Given the description of an element on the screen output the (x, y) to click on. 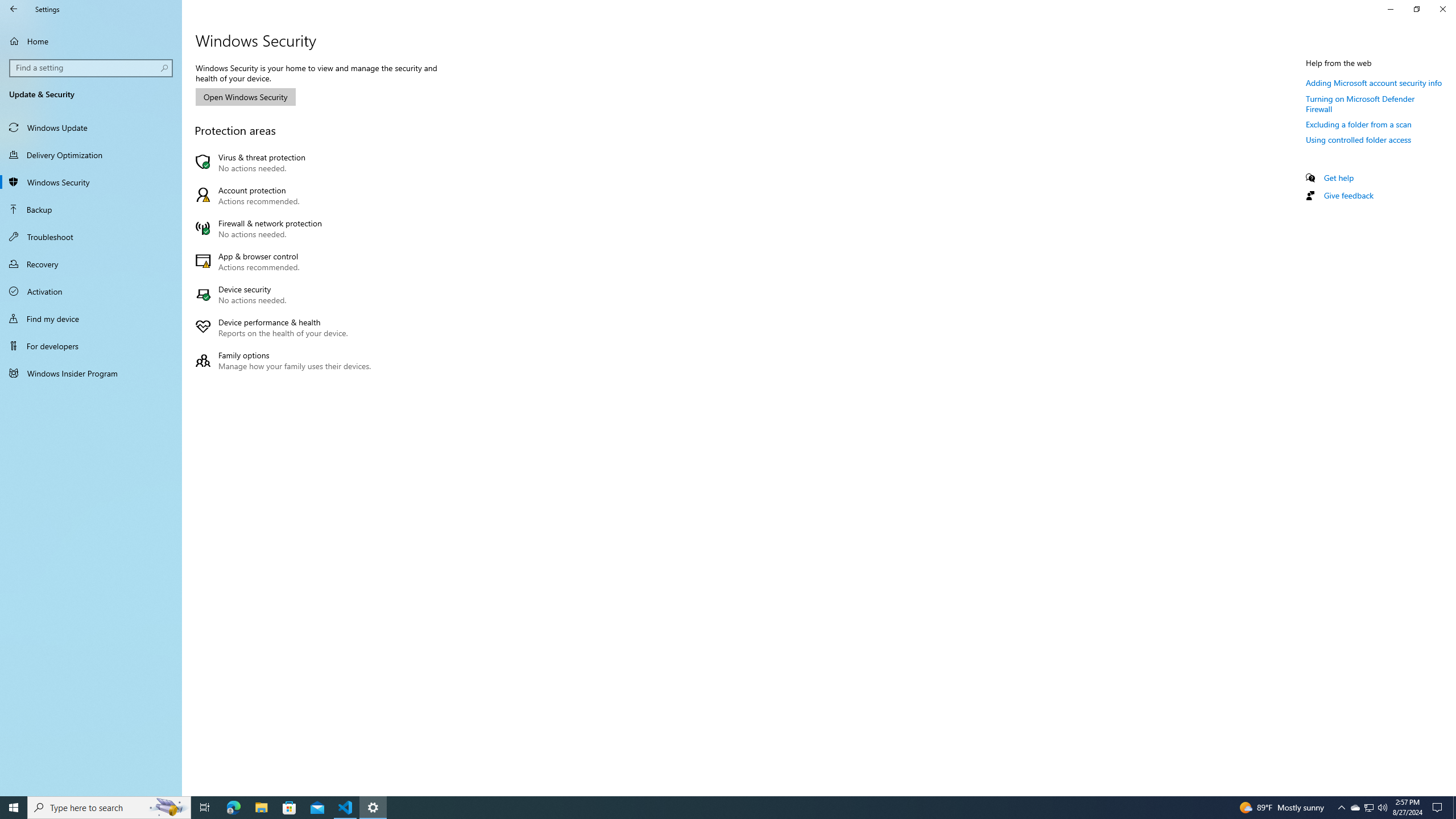
Adding Microsoft account security info (1374, 82)
Excluding a folder from a scan (1359, 123)
Open Windows Security (245, 96)
App & browser control Actions recommended. (285, 261)
